Given the description of an element on the screen output the (x, y) to click on. 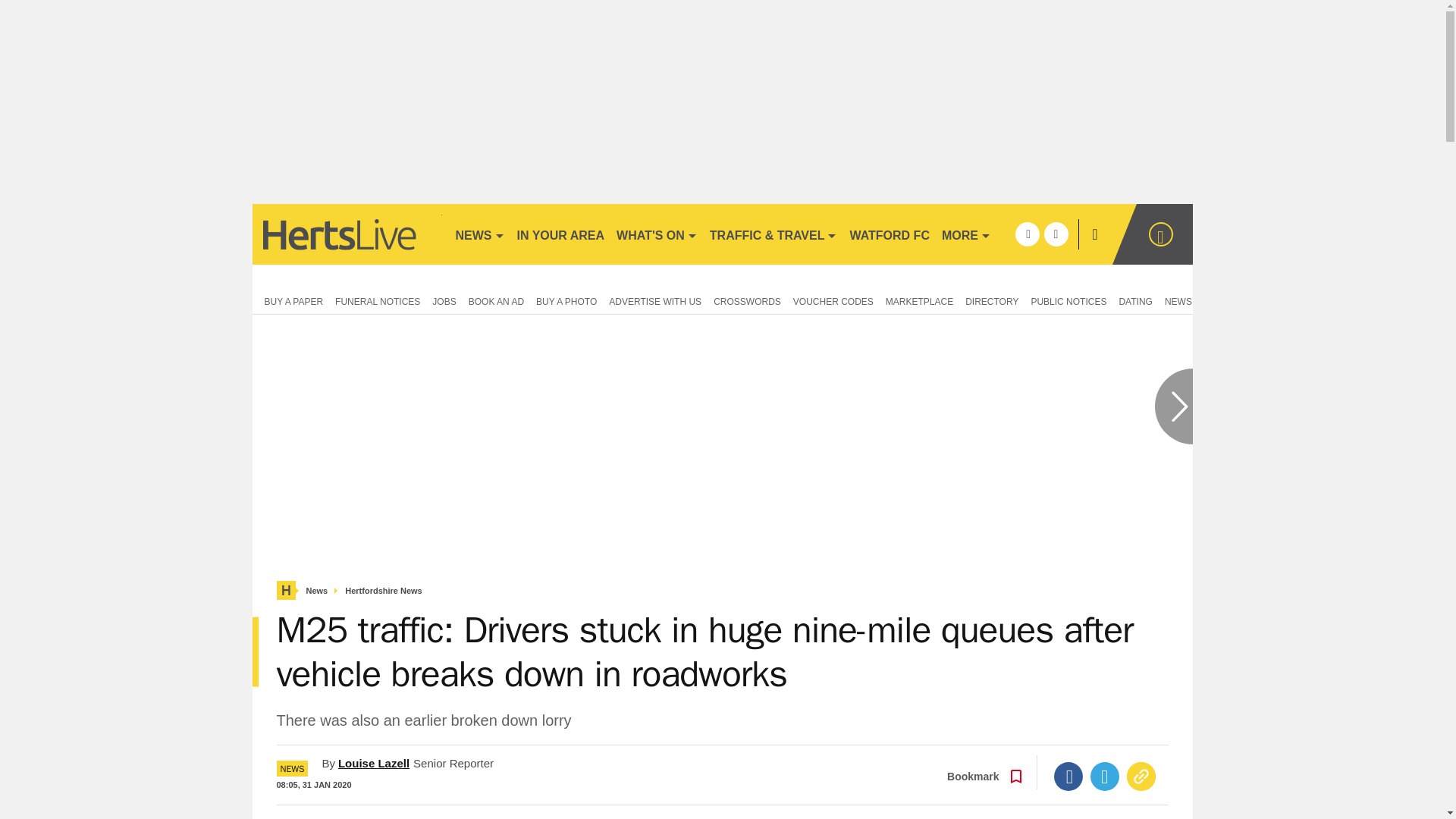
WHAT'S ON (656, 233)
NEWS (479, 233)
MORE (966, 233)
WATFORD FC (888, 233)
facebook (1026, 233)
twitter (1055, 233)
IN YOUR AREA (561, 233)
Twitter (1104, 776)
hertfordshiremercury (346, 233)
Facebook (1068, 776)
